Given the description of an element on the screen output the (x, y) to click on. 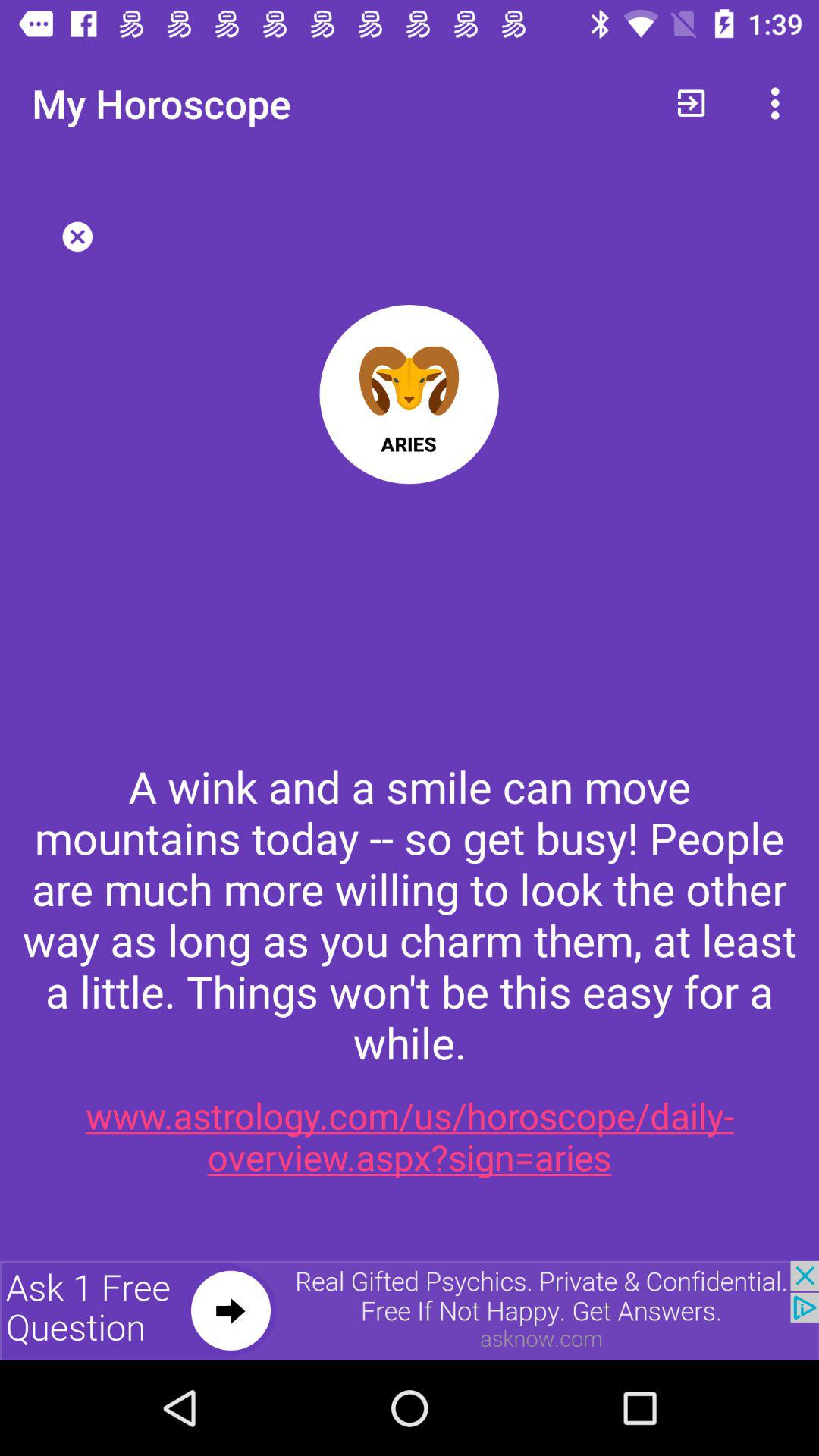
close option (77, 236)
